Given the description of an element on the screen output the (x, y) to click on. 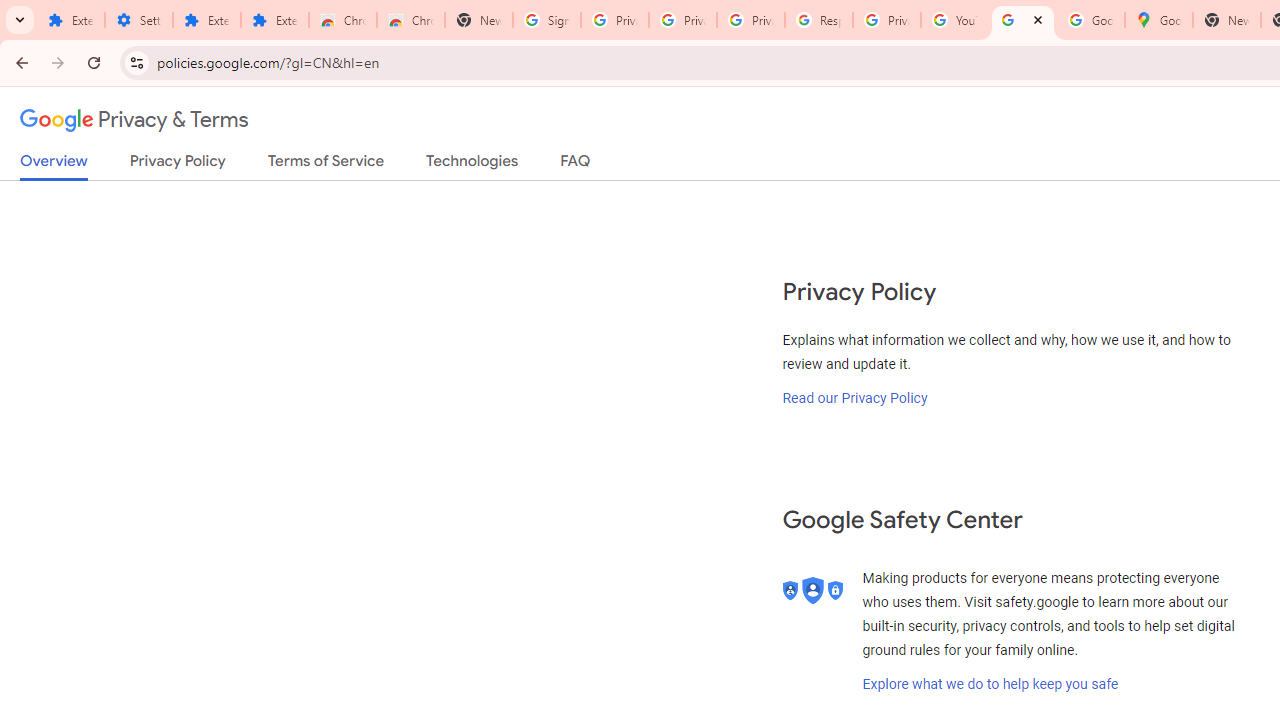
YouTube (954, 20)
Overview (54, 166)
Chrome Web Store - Themes (411, 20)
Extensions (206, 20)
Google Maps (1158, 20)
Explore what we do to help keep you safe (989, 683)
